Given the description of an element on the screen output the (x, y) to click on. 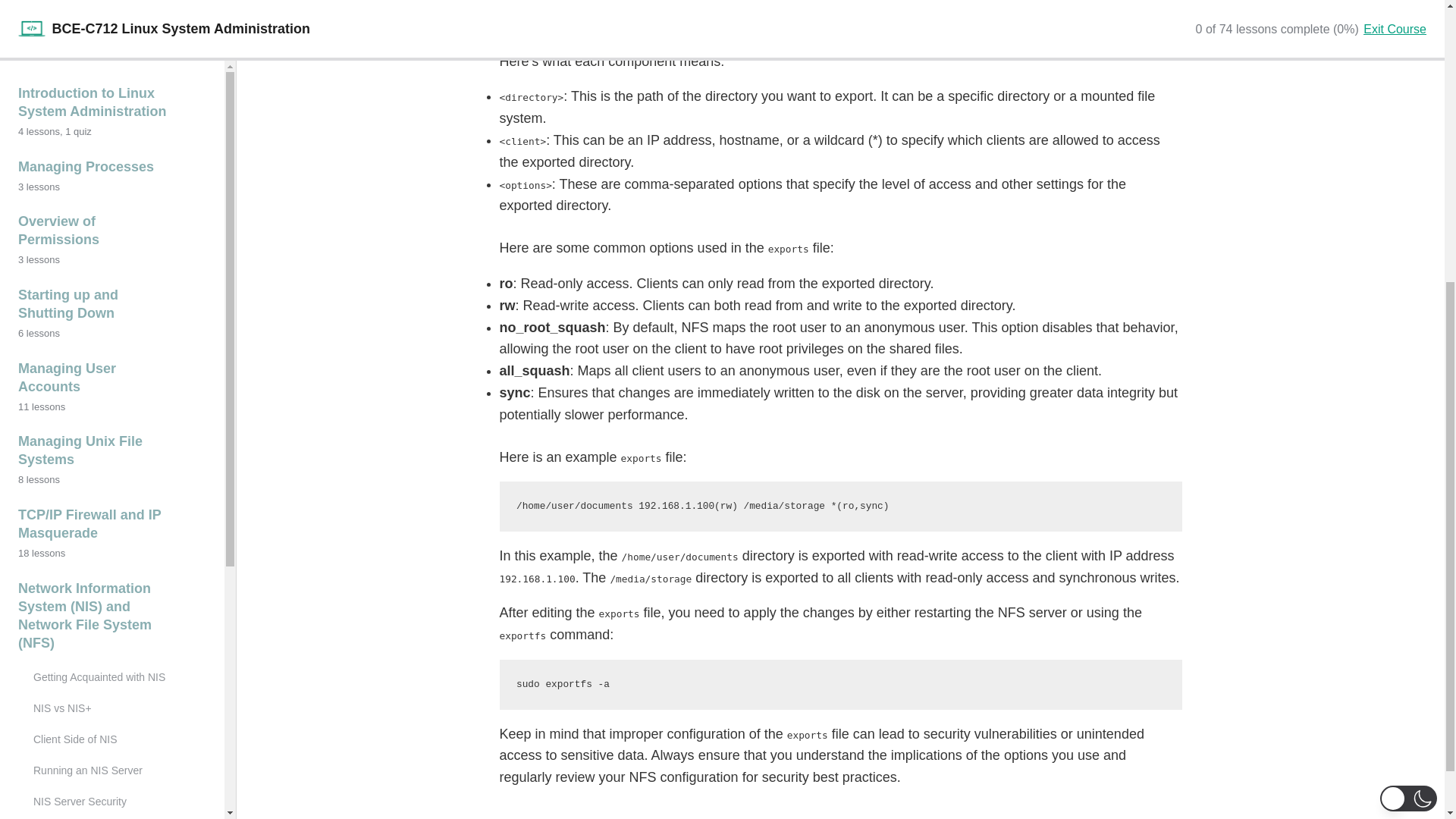
Managing Unix File Systems (111, 7)
